Given the description of an element on the screen output the (x, y) to click on. 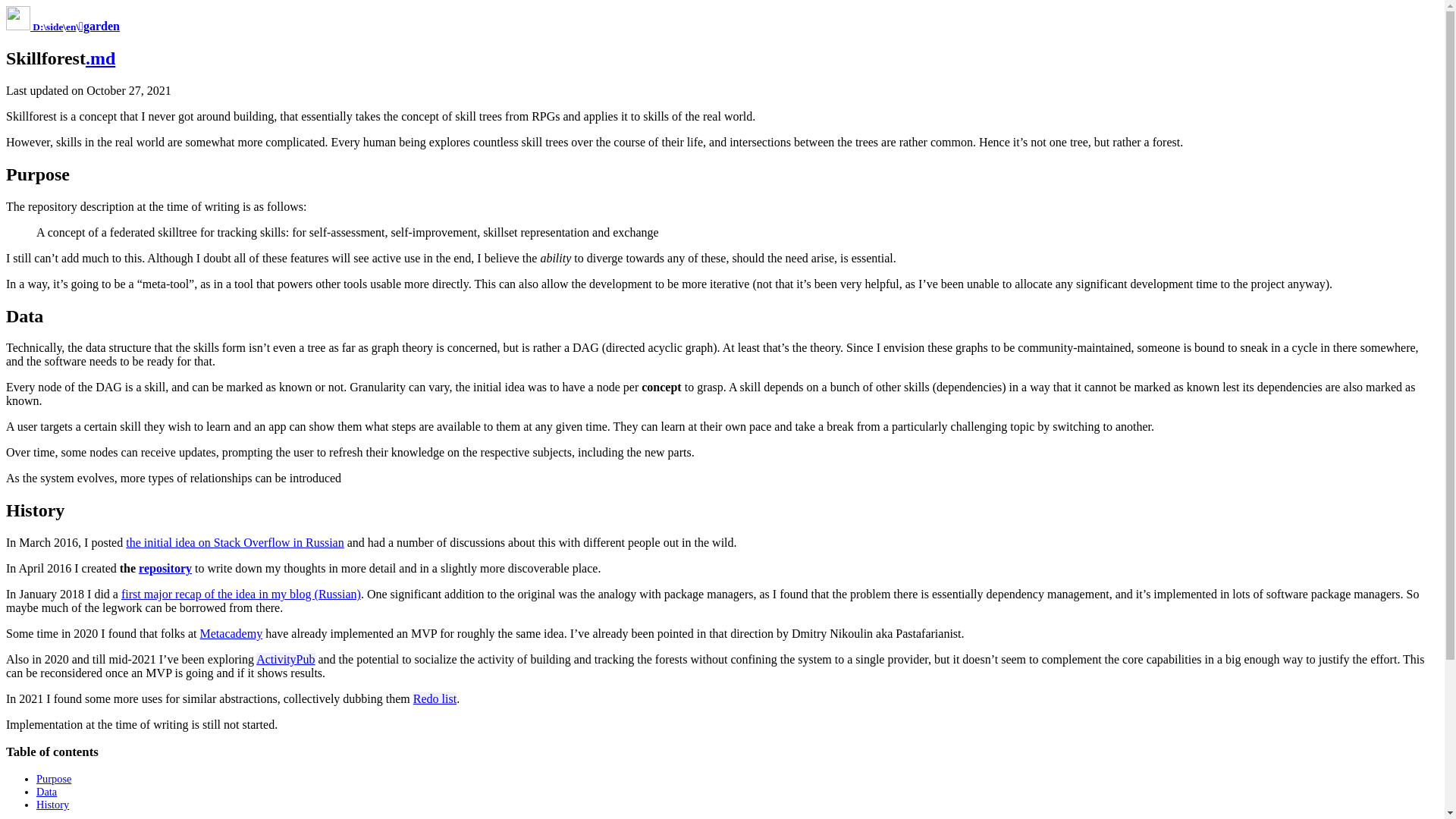
repository (165, 567)
.md (100, 57)
Metacademy (231, 633)
the initial idea on Stack Overflow in Russian (234, 542)
ActivityPub (285, 658)
History (52, 804)
Redo list (435, 698)
Data (46, 791)
Purpose (53, 778)
